Given the description of an element on the screen output the (x, y) to click on. 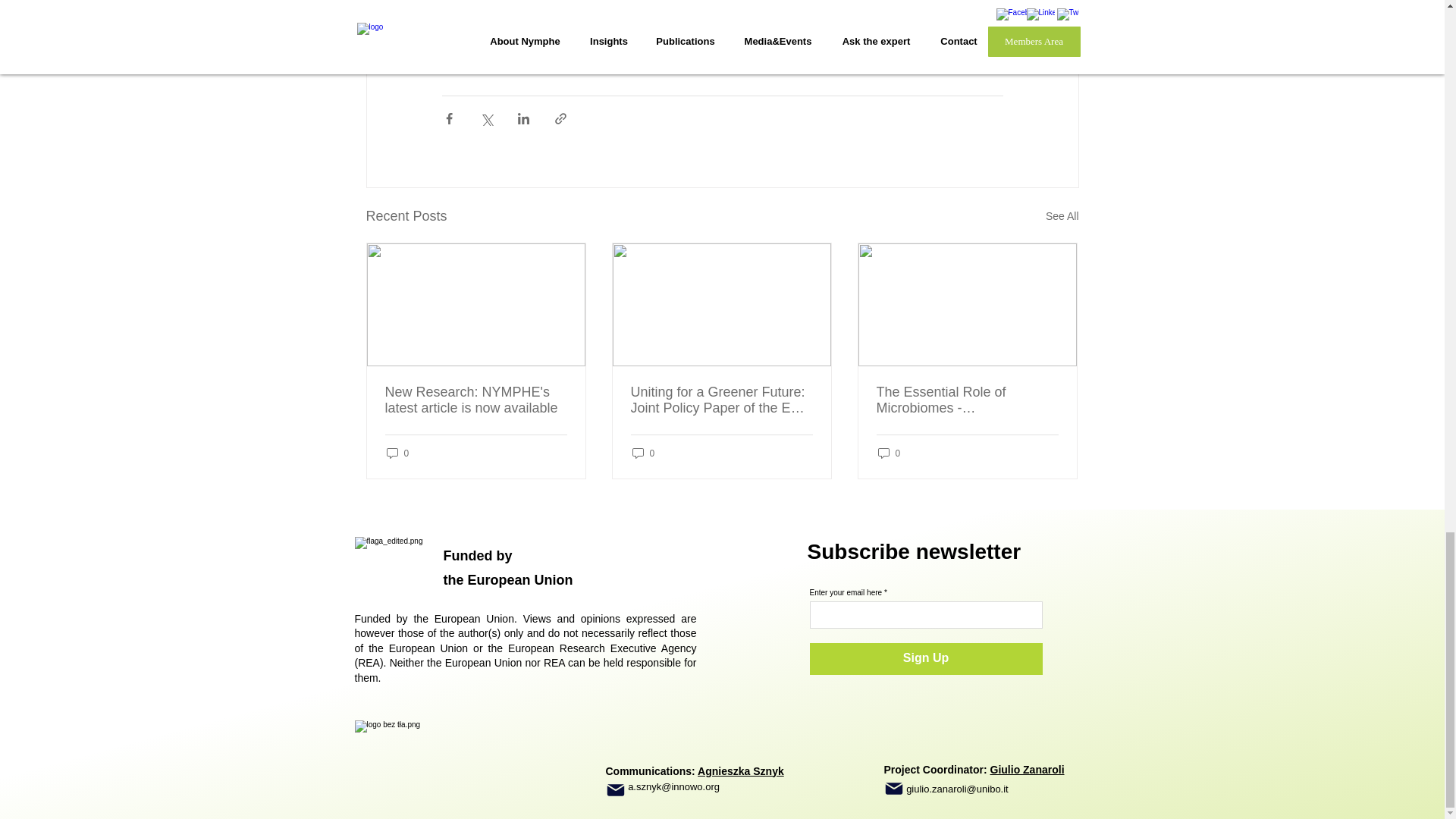
0 (643, 452)
New Research: NYMPHE's latest article is now available (476, 400)
Sign Up (925, 658)
See All (1061, 216)
0 (889, 452)
0 (397, 452)
